Given the description of an element on the screen output the (x, y) to click on. 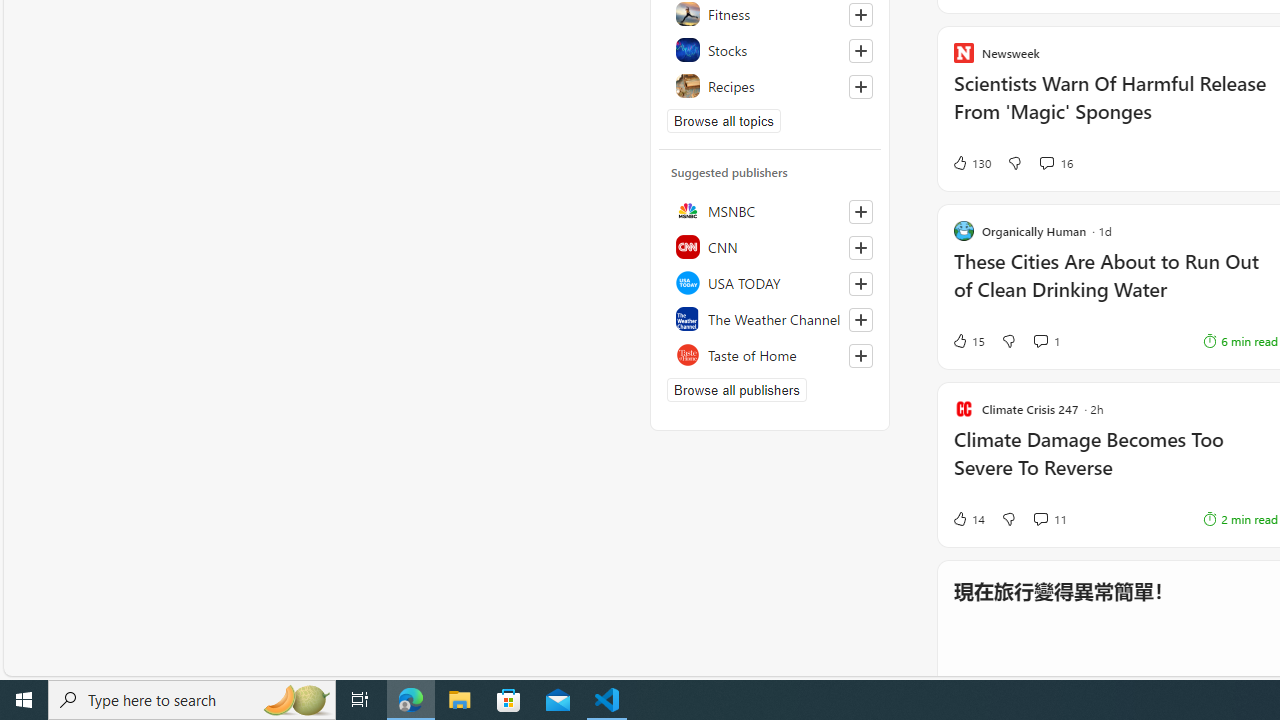
These Cities Are About to Run Out of Clean Drinking Water (1115, 285)
14 Like (968, 518)
Follow this topic (860, 86)
MSNBC (770, 210)
View comments 11 Comment (1040, 519)
Scientists Warn Of Harmful Release From 'Magic' Sponges (1115, 107)
Taste of Home (770, 354)
Browse all topics (724, 120)
View comments 11 Comment (1049, 518)
15 Like (968, 340)
